Given the description of an element on the screen output the (x, y) to click on. 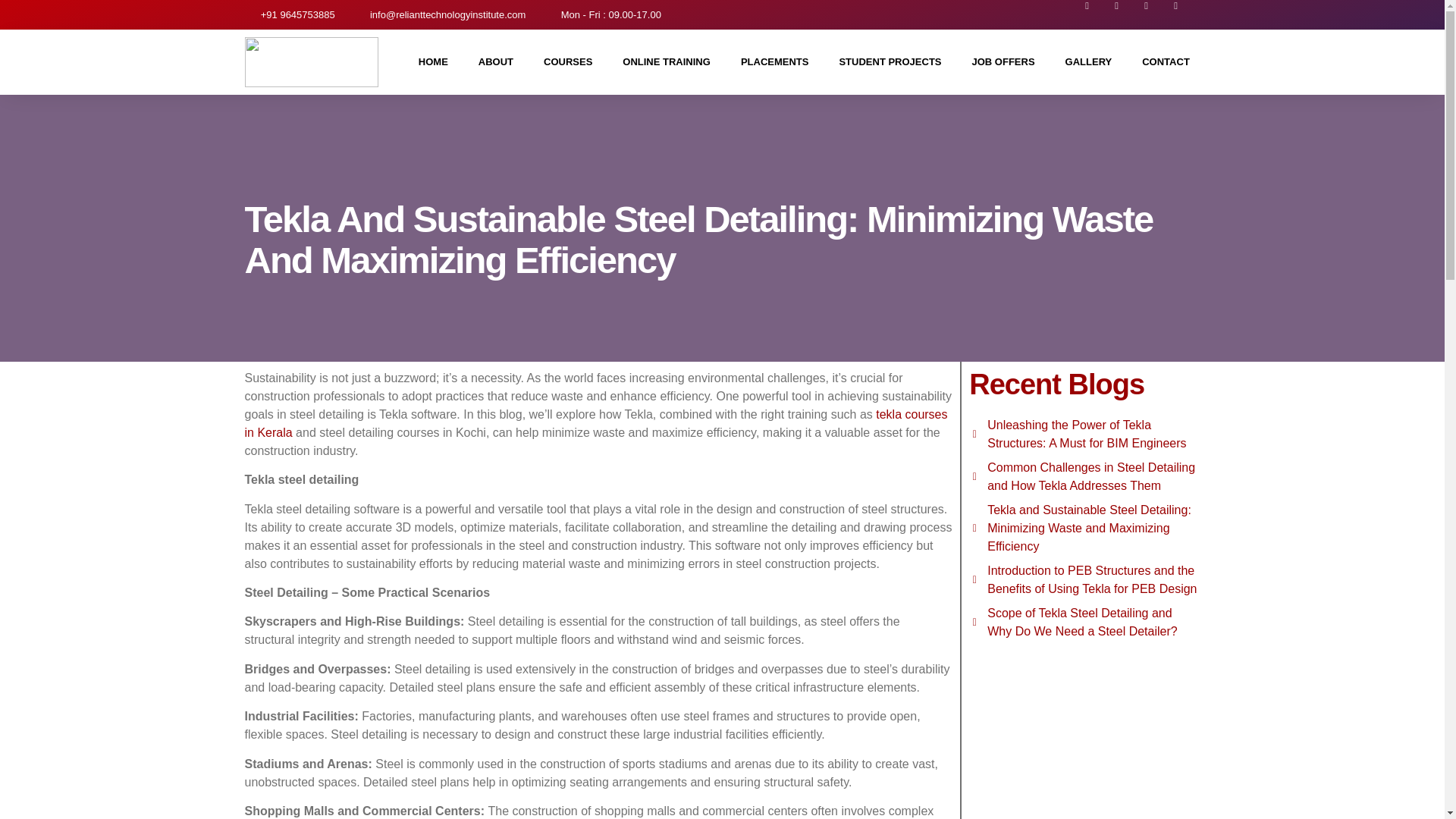
ONLINE TRAINING (666, 62)
GALLERY (1087, 62)
STUDENT PROJECTS (890, 62)
ABOUT (495, 62)
COURSES (567, 62)
CONTACT (1165, 62)
HOME (433, 62)
JOB OFFERS (1002, 62)
PLACEMENTS (774, 62)
